Given the description of an element on the screen output the (x, y) to click on. 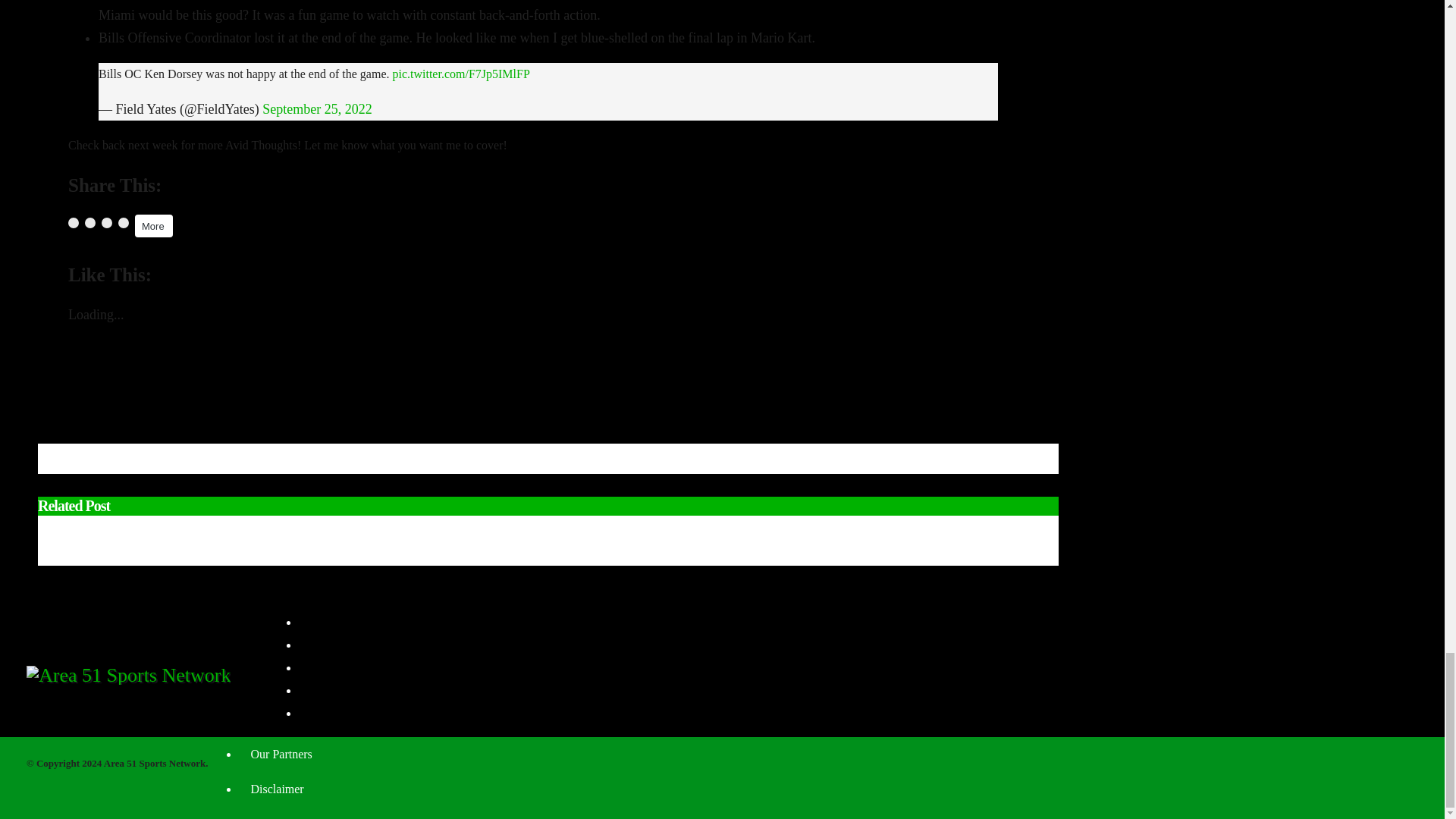
Click to share on LinkedIn (106, 222)
Click to share on Facebook (73, 222)
Click to share on X (90, 222)
